Given the description of an element on the screen output the (x, y) to click on. 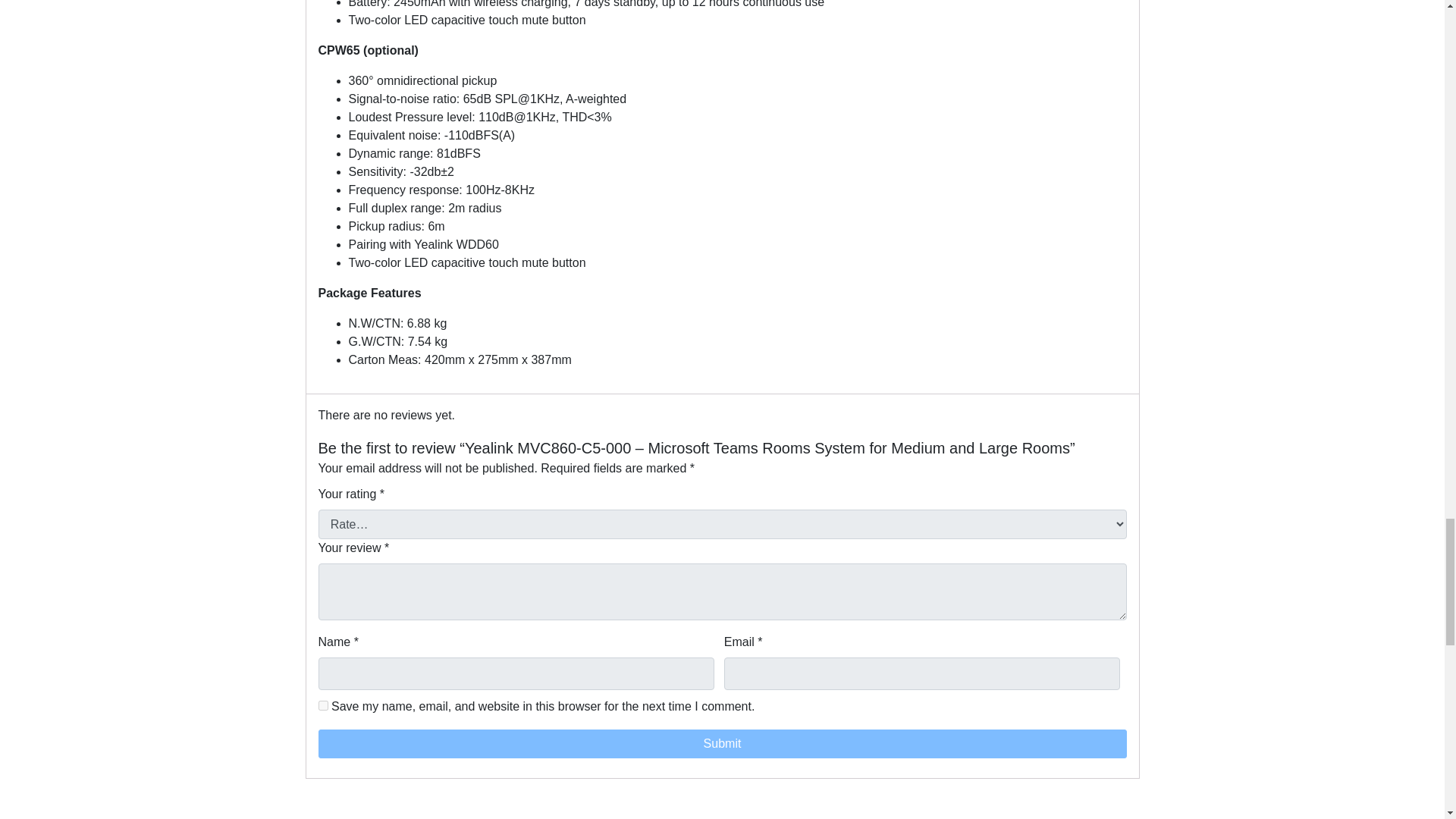
yes (323, 705)
Submit (722, 743)
